Given the description of an element on the screen output the (x, y) to click on. 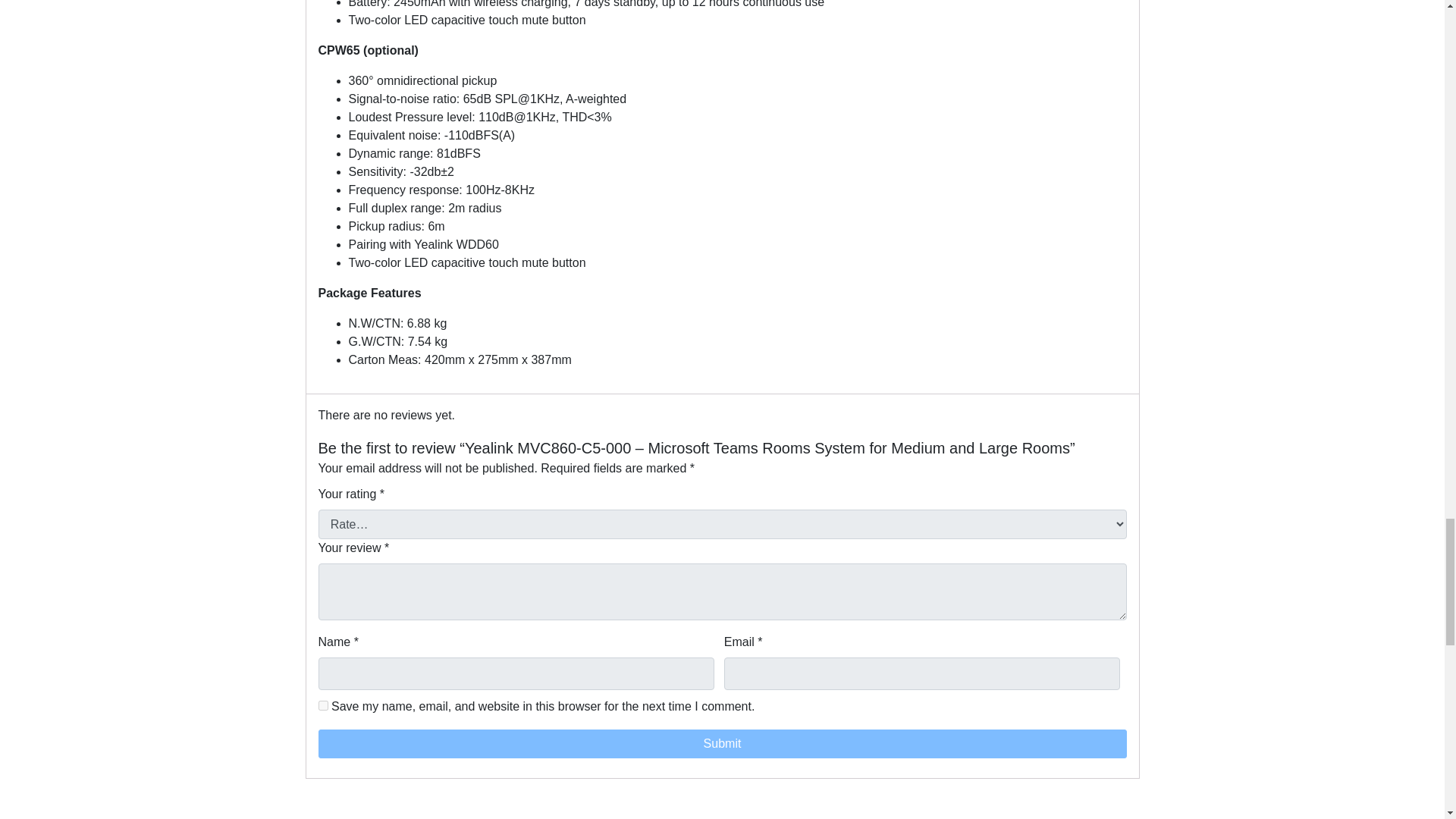
yes (323, 705)
Submit (722, 743)
